Given the description of an element on the screen output the (x, y) to click on. 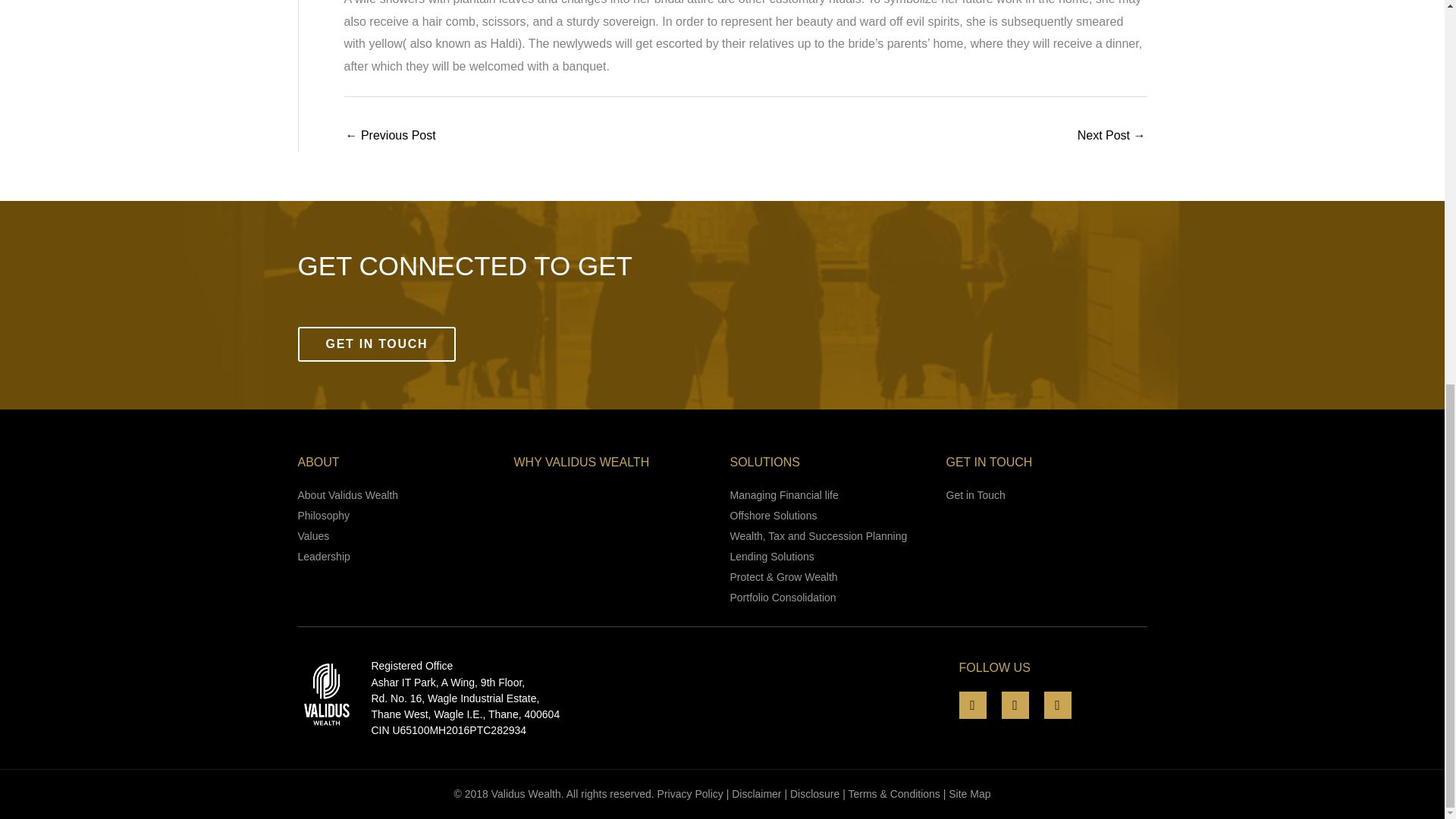
European Women Are not what They Are shown on Tv. (390, 136)
Customs of Bulgarian weddings (1111, 136)
